Given the description of an element on the screen output the (x, y) to click on. 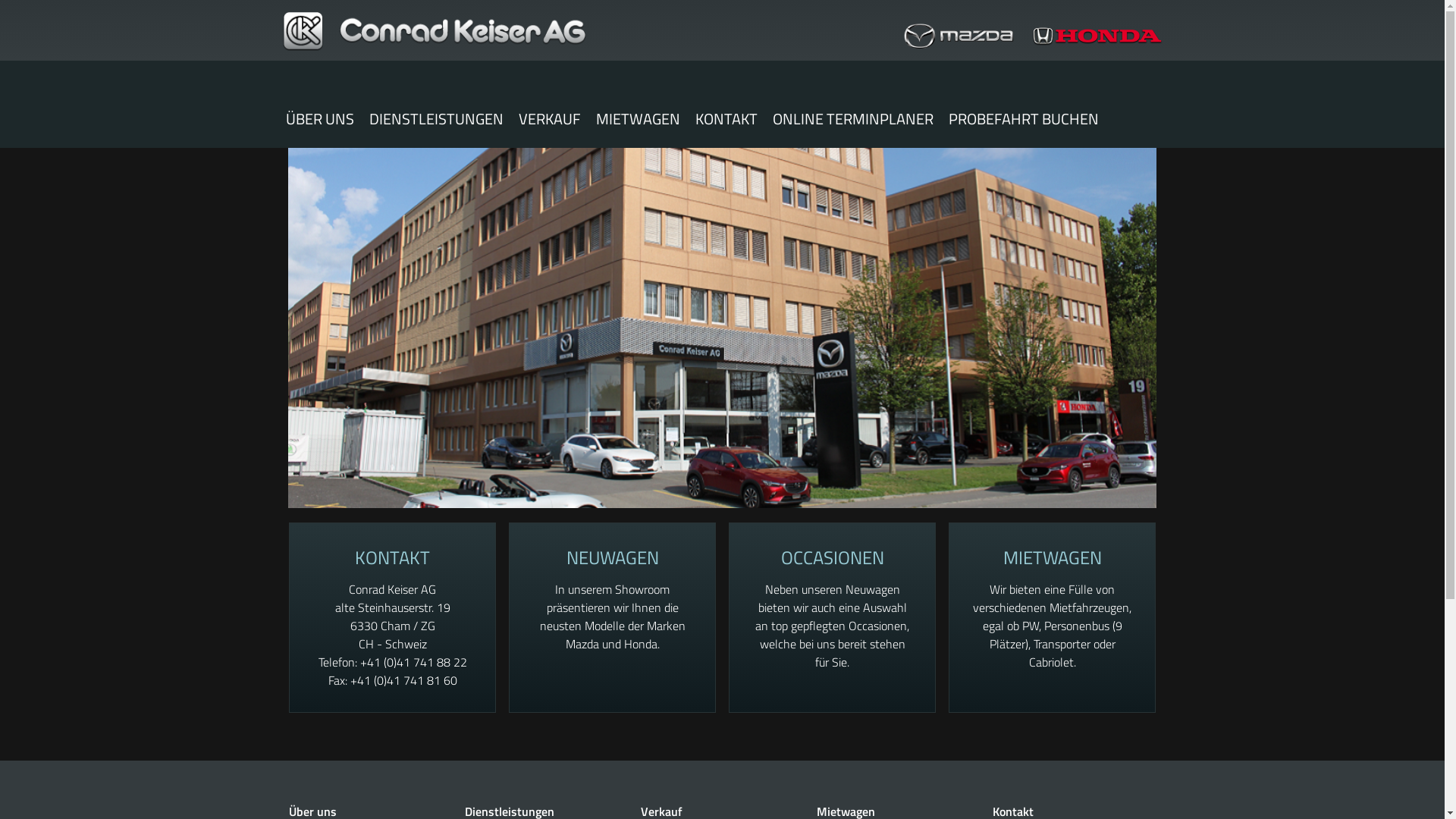
DIENSTLEISTUNGEN Element type: text (435, 118)
OCCASIONEN Element type: text (832, 557)
VERKAUF Element type: text (549, 118)
ONLINE TERMINPLANER Element type: text (851, 118)
MIETWAGEN Element type: text (1051, 557)
KONTAKT Element type: text (391, 557)
KONTAKT Element type: text (725, 118)
PROBEFAHRT BUCHEN Element type: text (1022, 118)
MIETWAGEN Element type: text (638, 118)
NEUWAGEN Element type: text (611, 557)
